Given the description of an element on the screen output the (x, y) to click on. 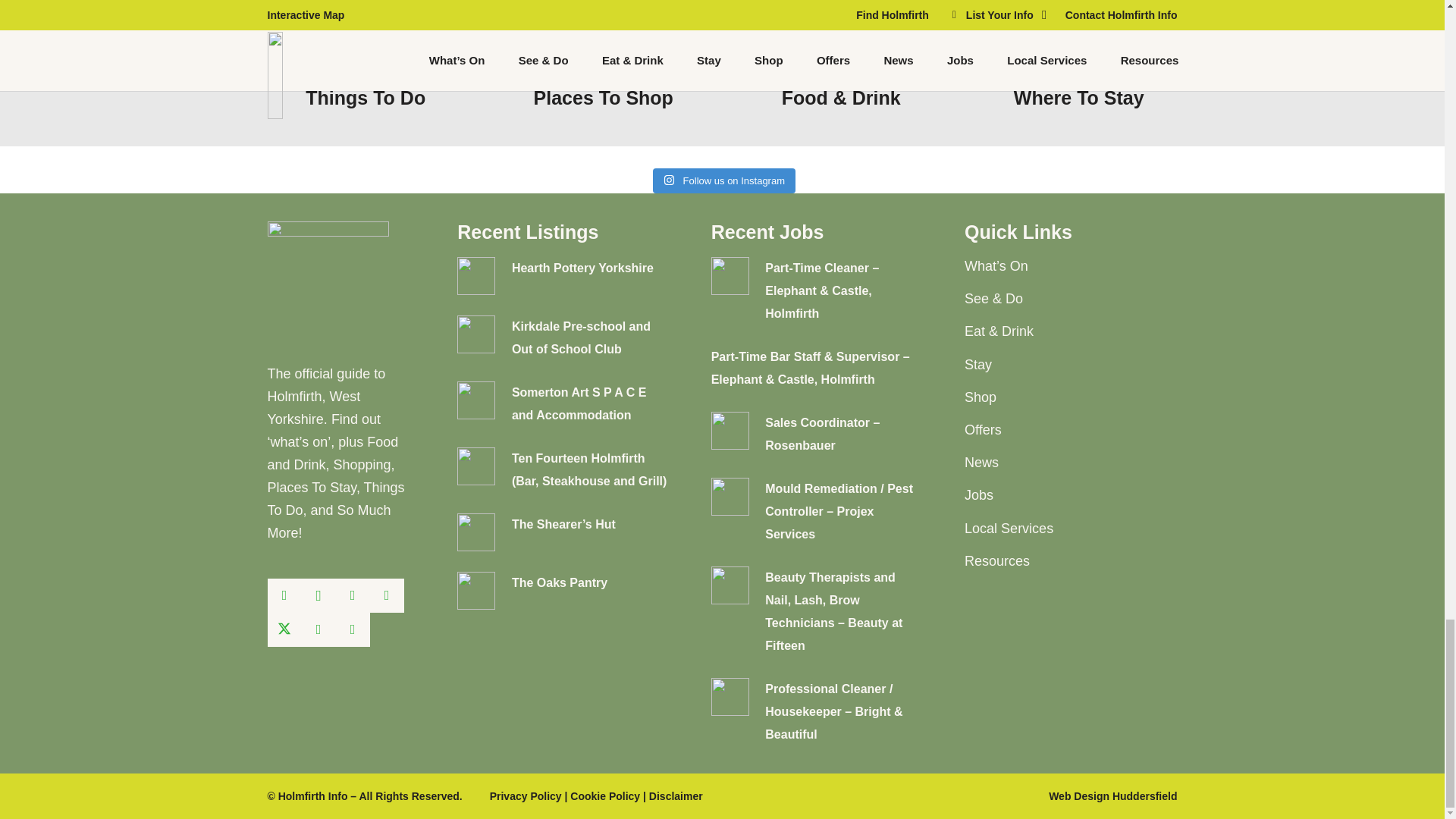
LinkedIn (351, 595)
Facebook (283, 595)
Instagram (318, 595)
TikTok (351, 629)
Pinterest (386, 595)
Twitter (283, 629)
YouTube (318, 629)
